Given the description of an element on the screen output the (x, y) to click on. 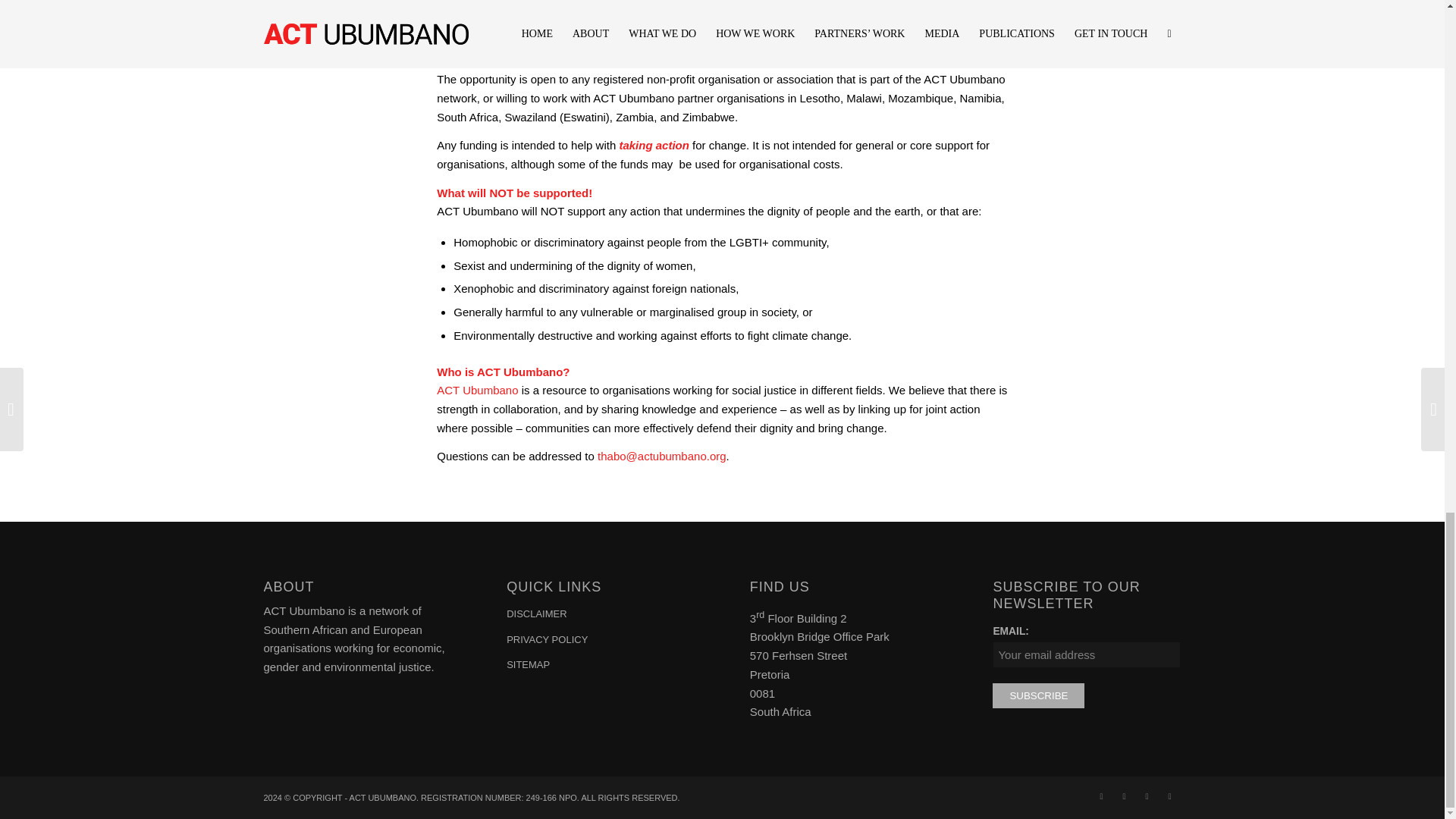
SUBSCRIBE (1038, 695)
Twitter (1124, 795)
Youtube (1169, 795)
Facebook (1101, 795)
DISCLAIMER (600, 614)
LinkedIn (1146, 795)
PRIVACY POLICY (600, 640)
SUBSCRIBE (1038, 695)
ACT Ubumbano (477, 390)
SITEMAP (600, 665)
